Given the description of an element on the screen output the (x, y) to click on. 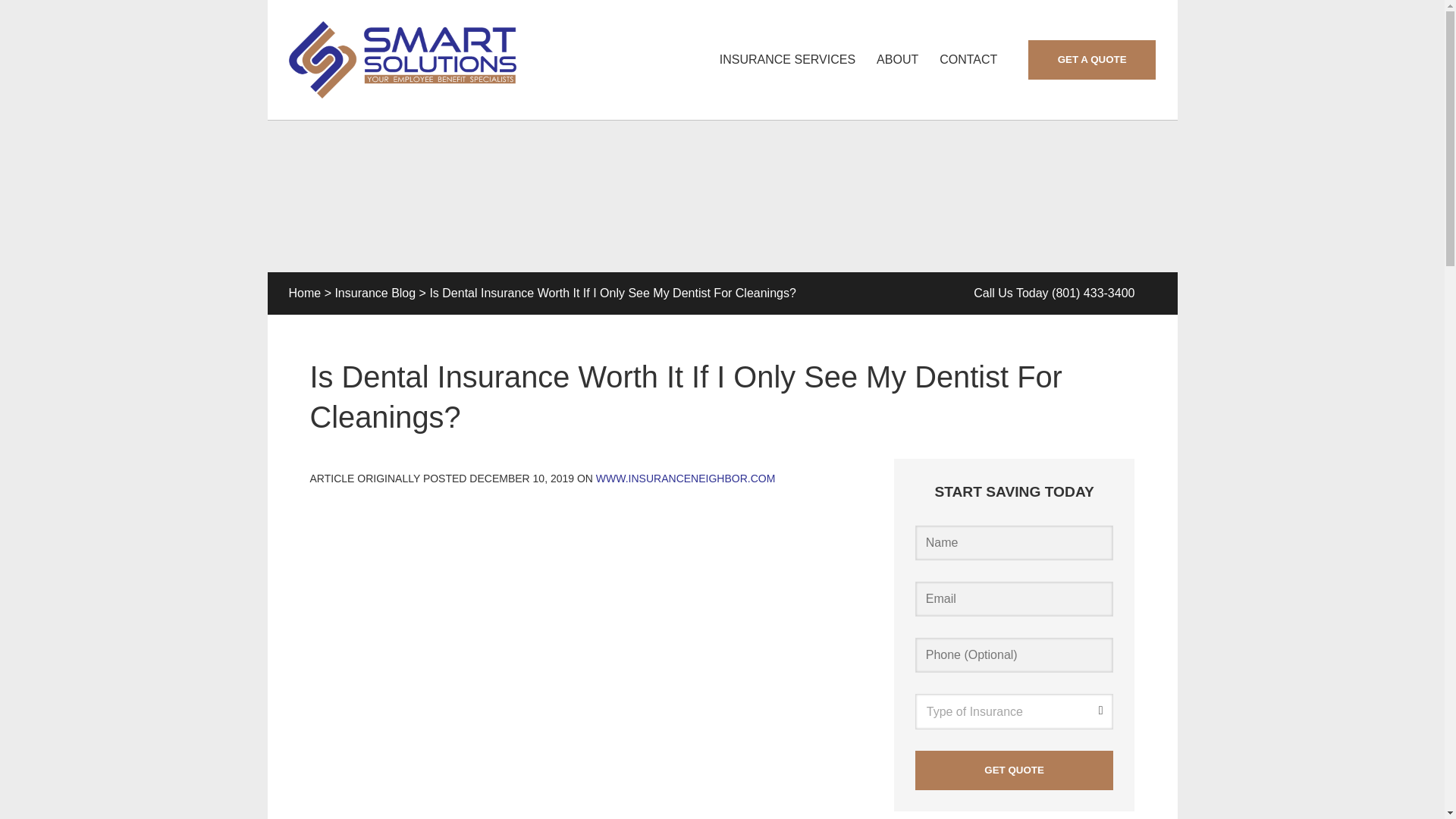
Get Quote (1014, 770)
ABOUT (897, 59)
GET A QUOTE (1091, 59)
Insurance Blog (374, 292)
Home (304, 292)
Smart Solutions (401, 59)
Get Quote (1014, 770)
CONTACT (967, 59)
INSURANCE SERVICES (787, 59)
